Given the description of an element on the screen output the (x, y) to click on. 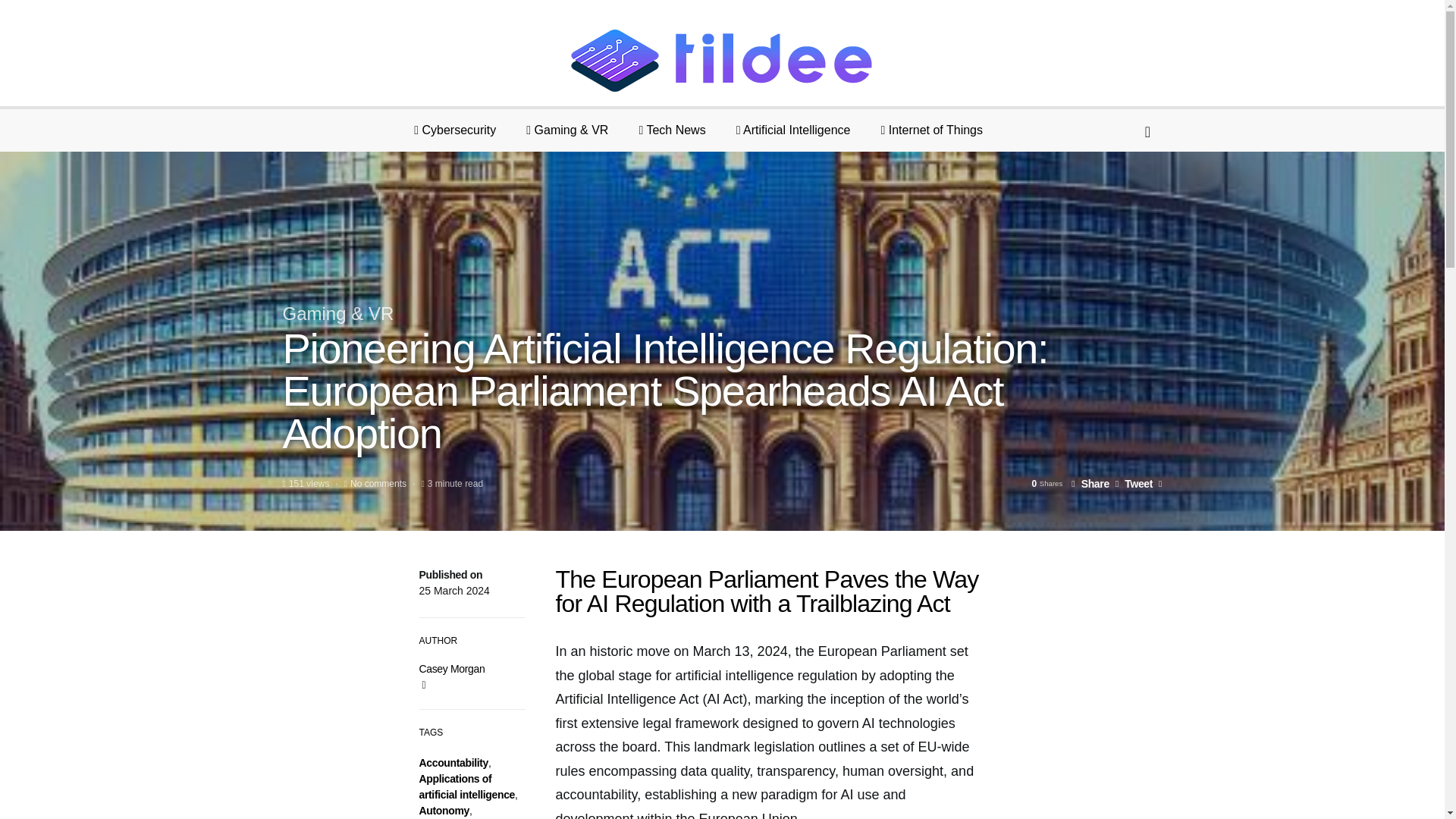
Applications of artificial intelligence (467, 786)
Autonomy (443, 810)
Share (1090, 483)
Accountability (453, 762)
Tweet (1134, 483)
No comments (378, 483)
Casey Morgan (451, 668)
